Given the description of an element on the screen output the (x, y) to click on. 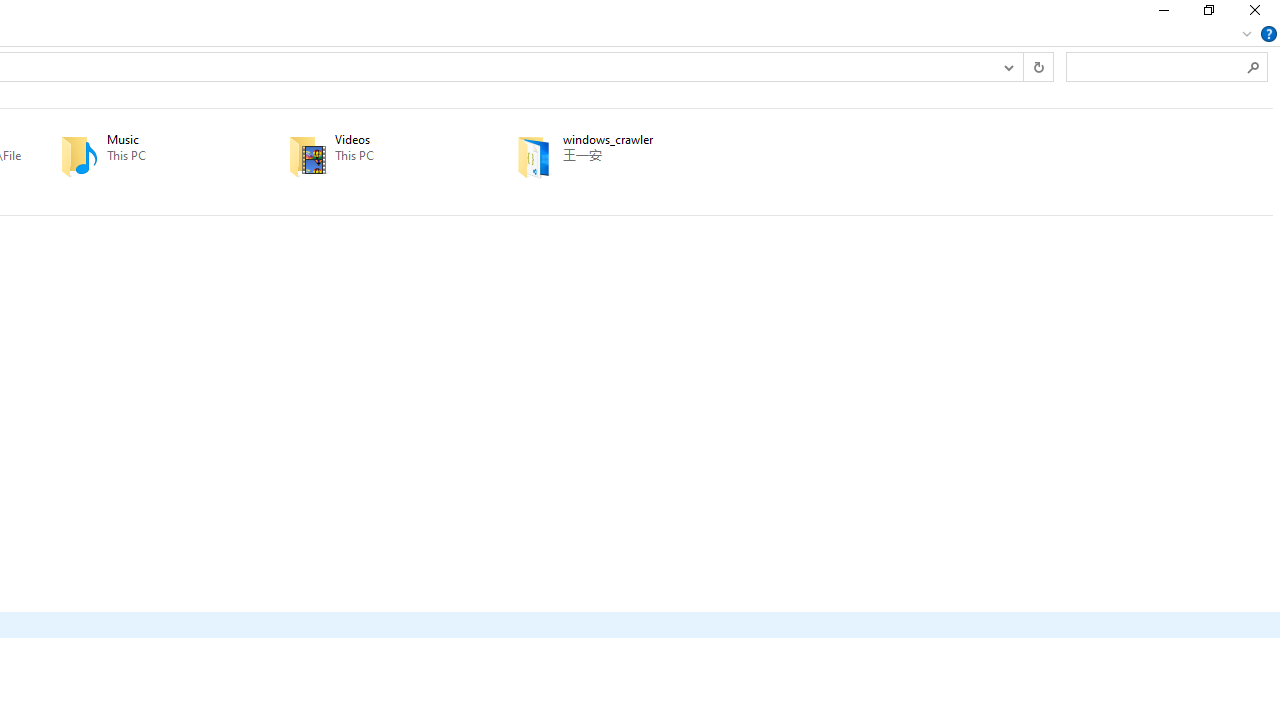
Name (635, 139)
